Given the description of an element on the screen output the (x, y) to click on. 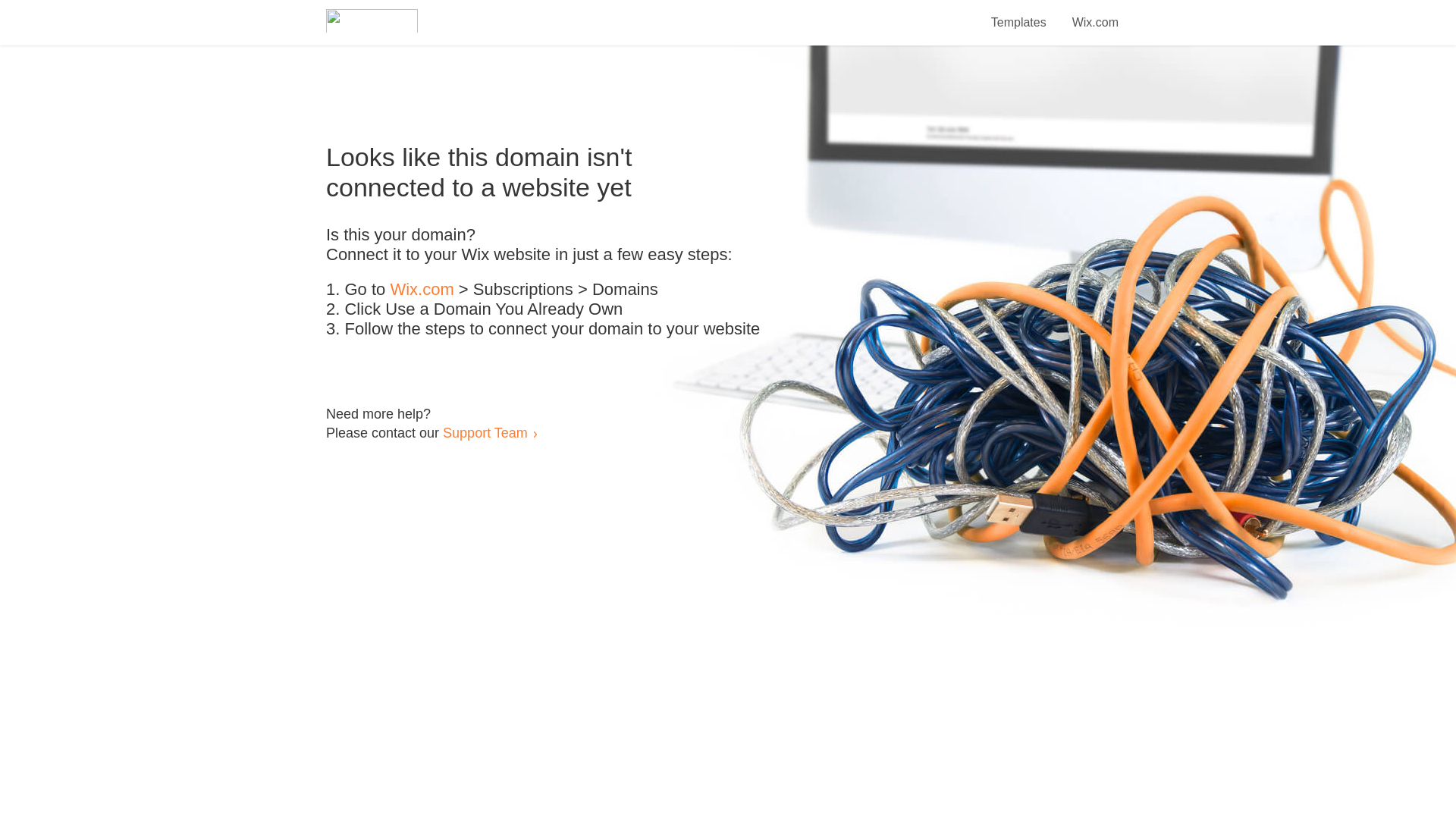
Templates (1018, 14)
Support Team (484, 432)
Wix.com (1095, 14)
Wix.com (421, 289)
